Given the description of an element on the screen output the (x, y) to click on. 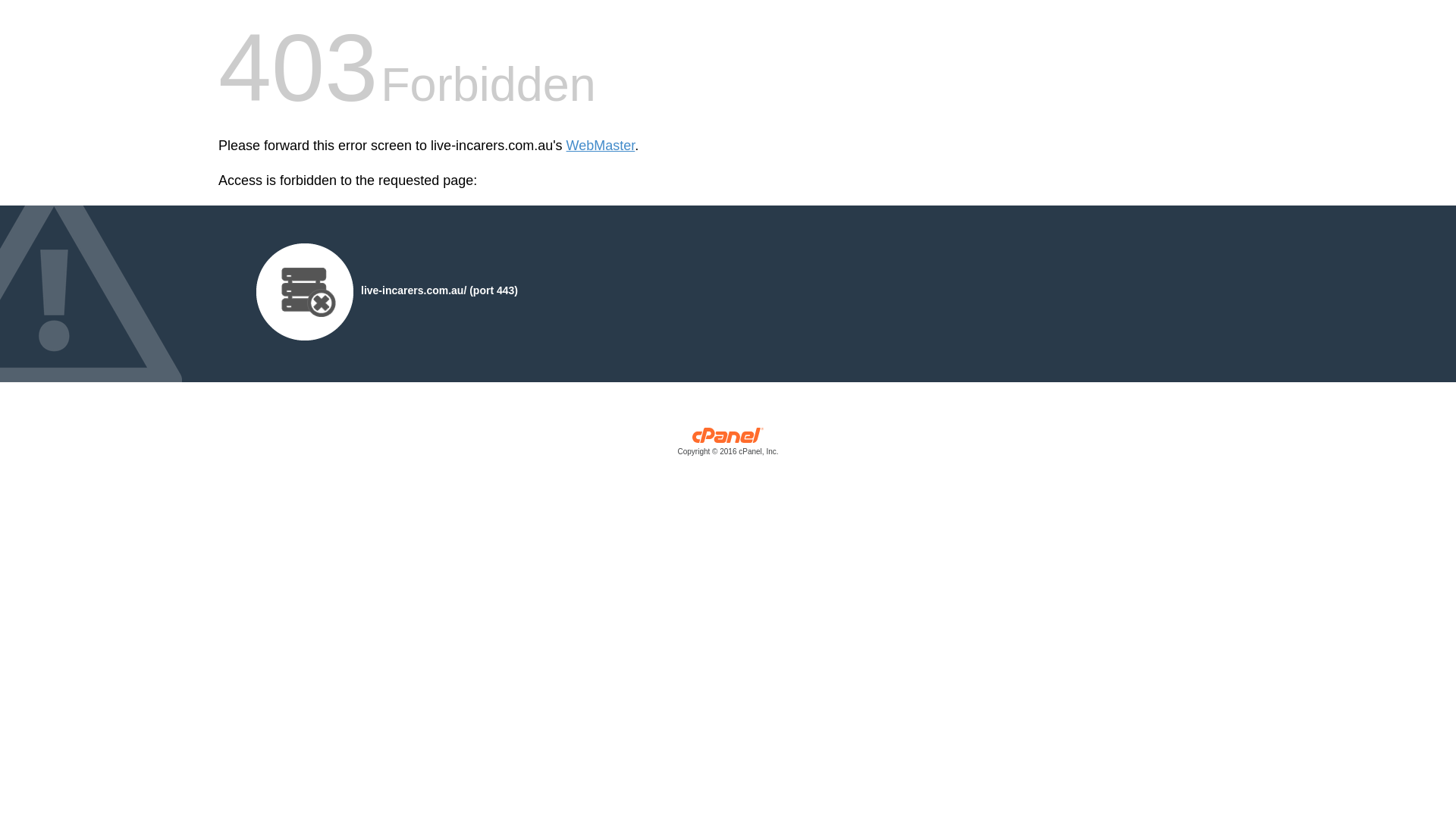
WebMaster Element type: text (600, 145)
